Given the description of an element on the screen output the (x, y) to click on. 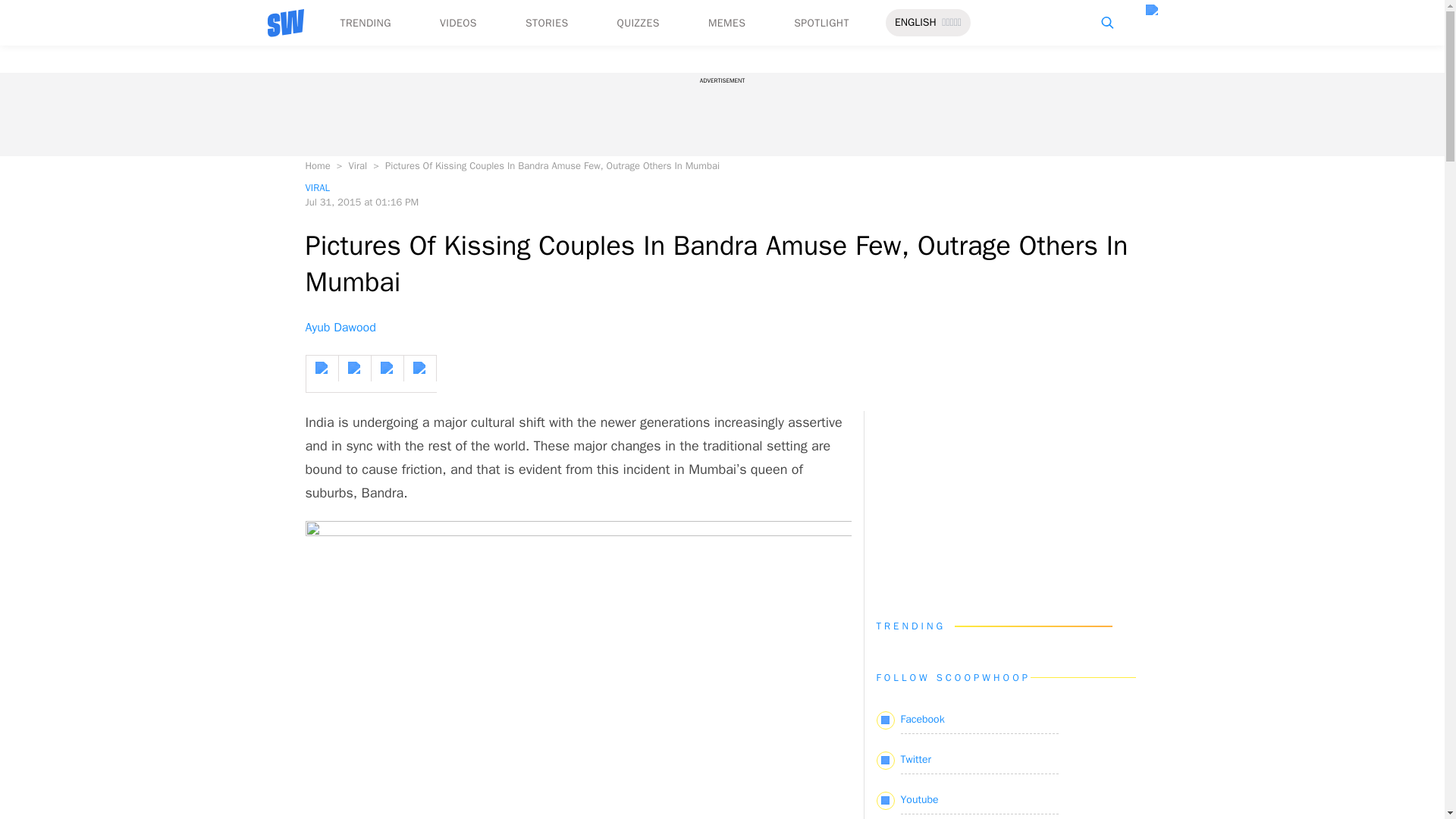
ENGLISH (915, 22)
SPOTLIGHT (820, 22)
VIDEOS (458, 22)
TRENDING (364, 22)
MEMES (726, 22)
STORIES (547, 22)
QUIZZES (638, 22)
